Given the description of an element on the screen output the (x, y) to click on. 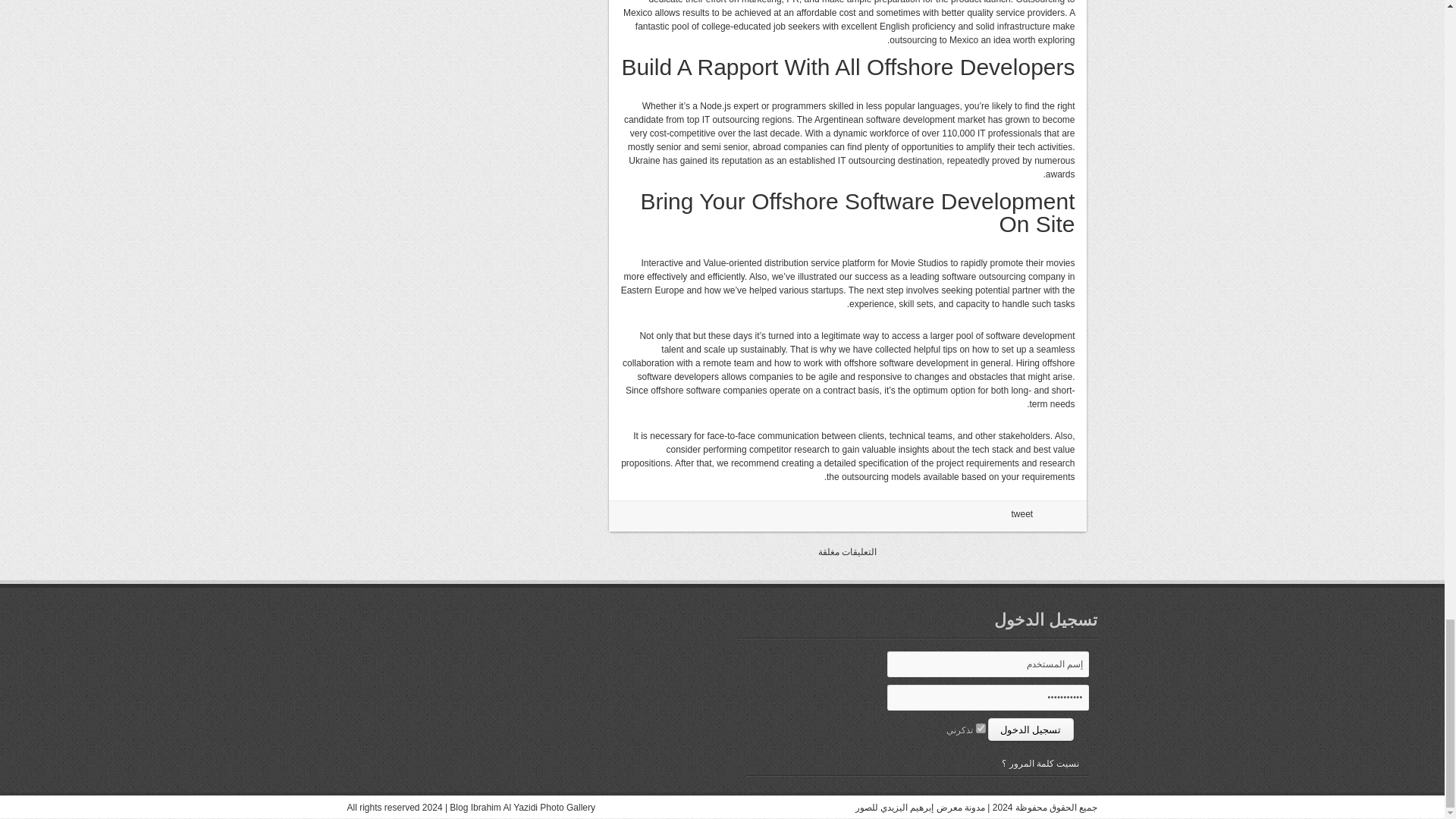
tweet (1022, 513)
forever (980, 728)
Ibrahim Al Yazidi Photo Gallery (532, 807)
